Given the description of an element on the screen output the (x, y) to click on. 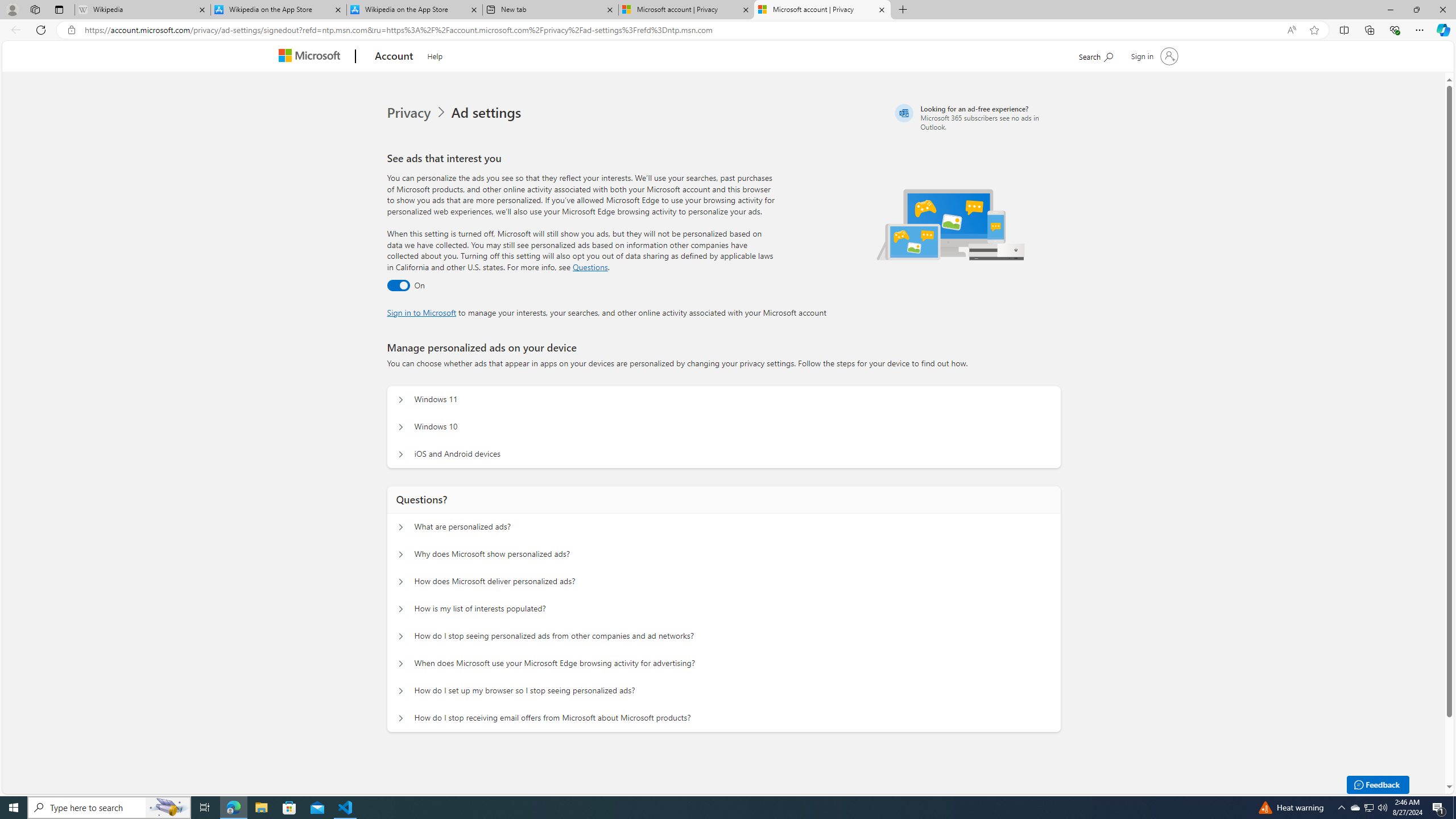
Search Microsoft.com (1095, 54)
Go to Questions section (590, 266)
Sign in to your account (1153, 55)
